Given the description of an element on the screen output the (x, y) to click on. 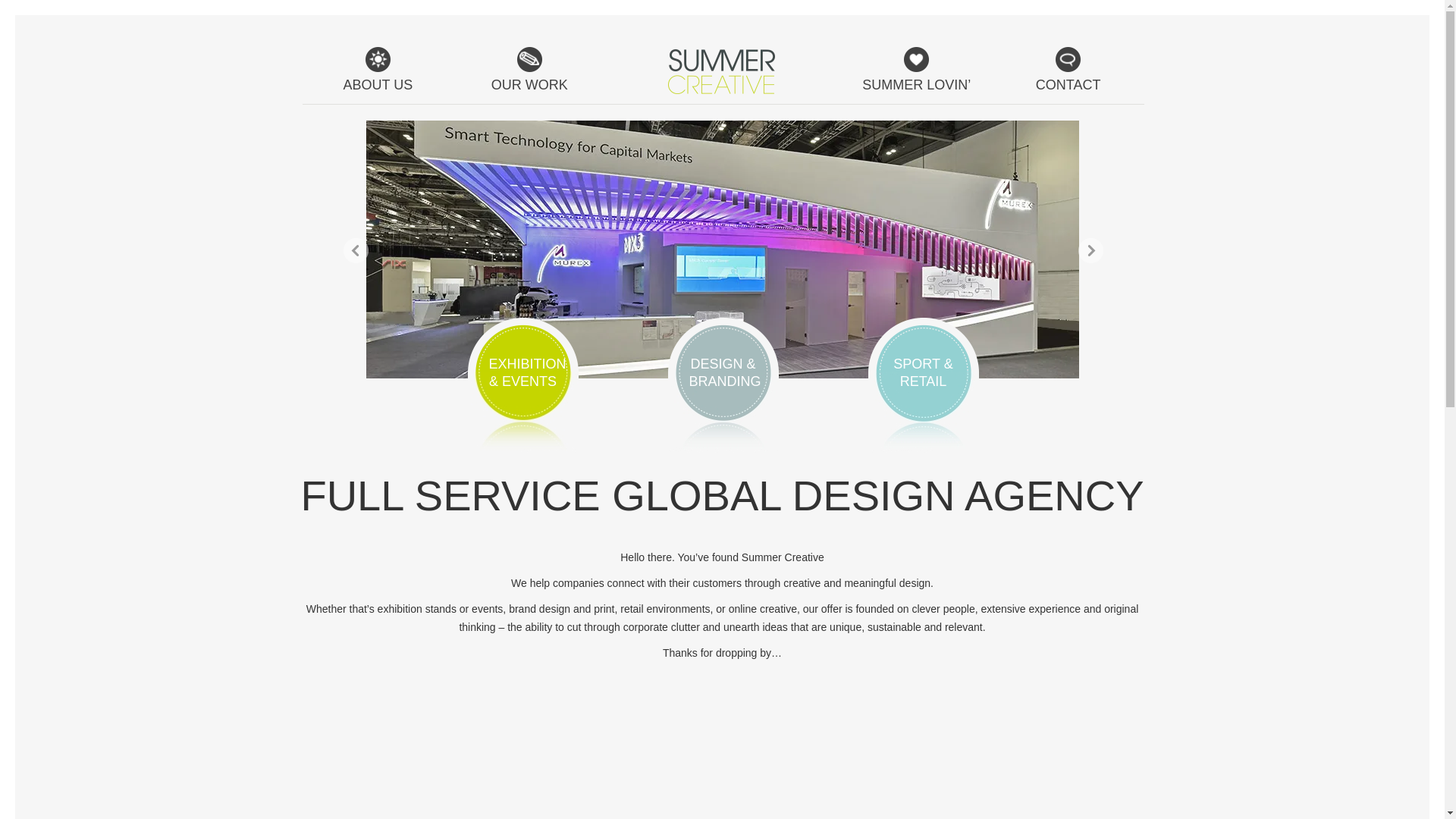
ABOUT US (376, 75)
OUR WORK (528, 75)
CONTACT (1068, 75)
ABOUT US (376, 75)
SUMMER LOVIN' (916, 75)
OUR WORK (528, 75)
CONTACT (1068, 75)
